Given the description of an element on the screen output the (x, y) to click on. 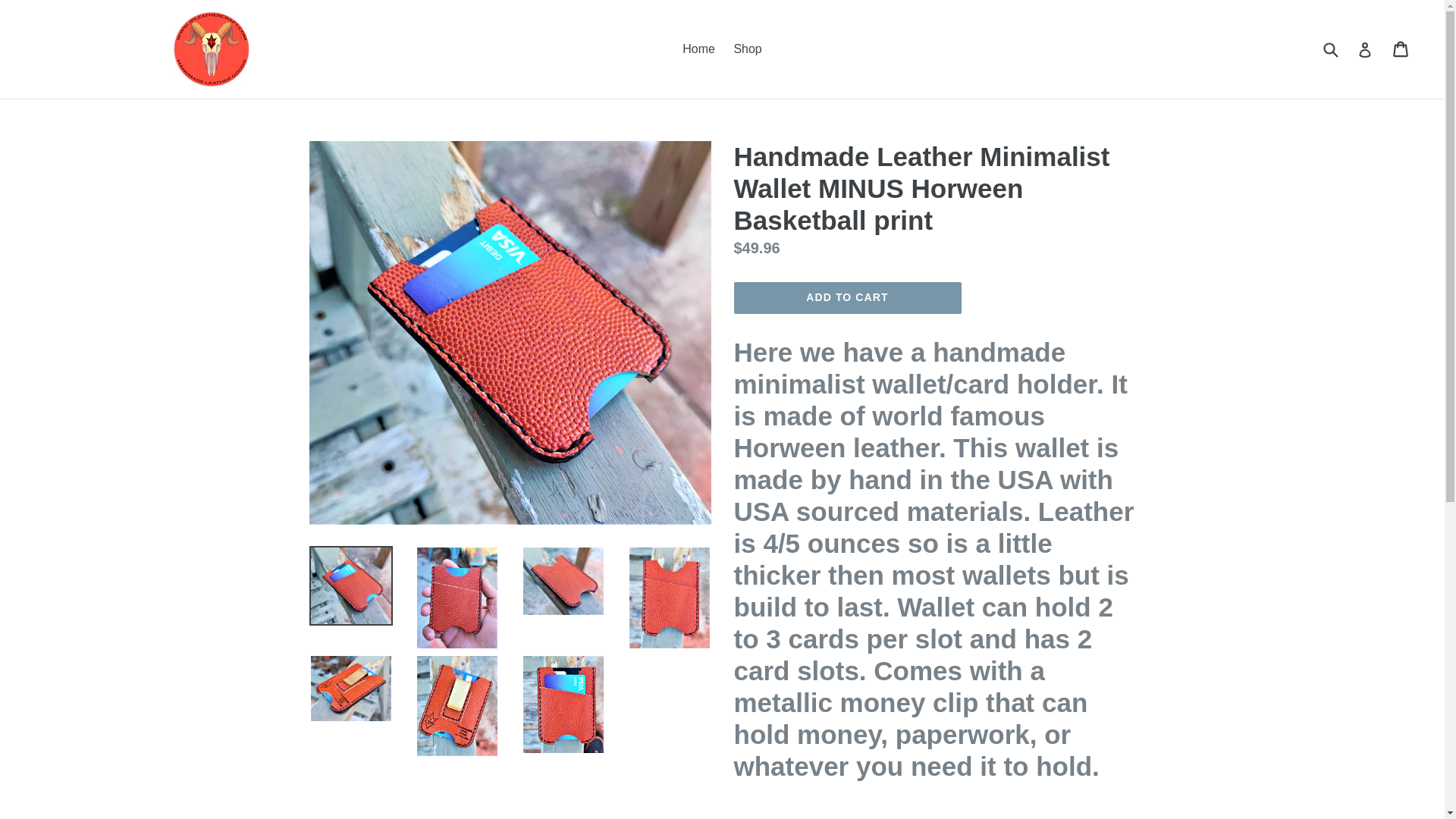
ADD TO CART (846, 297)
Home (698, 48)
Shop (746, 48)
Submit (1401, 48)
Log in (1329, 48)
